Given the description of an element on the screen output the (x, y) to click on. 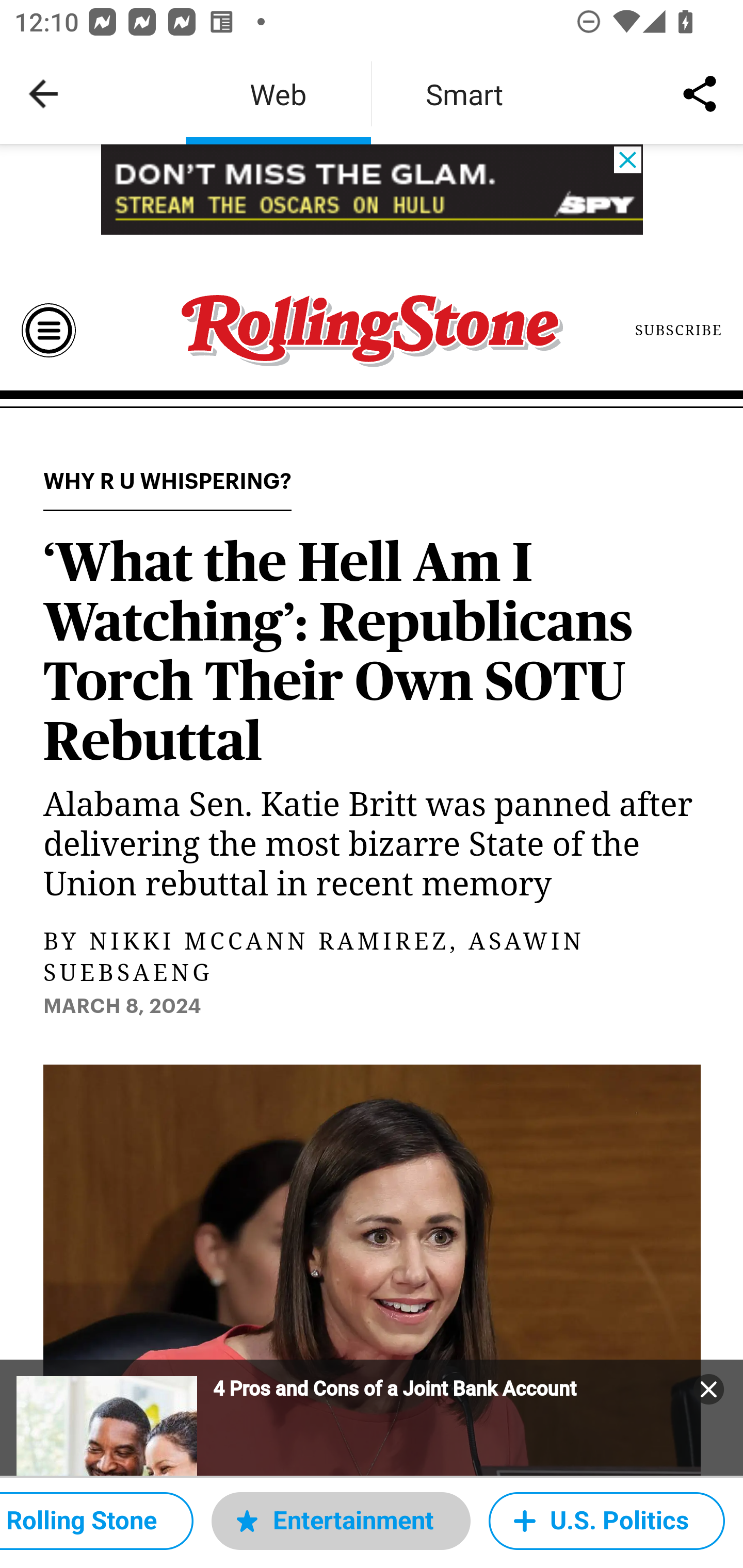
Web (277, 93)
Smart (464, 93)
Rollingstone Logo (371, 331)
Click to expand the Mega Menu (48, 329)
SUBSCRIBE (678, 329)
ASAWIN SUEBSAENG (314, 958)
Rolling Stone (96, 1520)
Entertainment (340, 1520)
U.S. Politics (606, 1520)
